Given the description of an element on the screen output the (x, y) to click on. 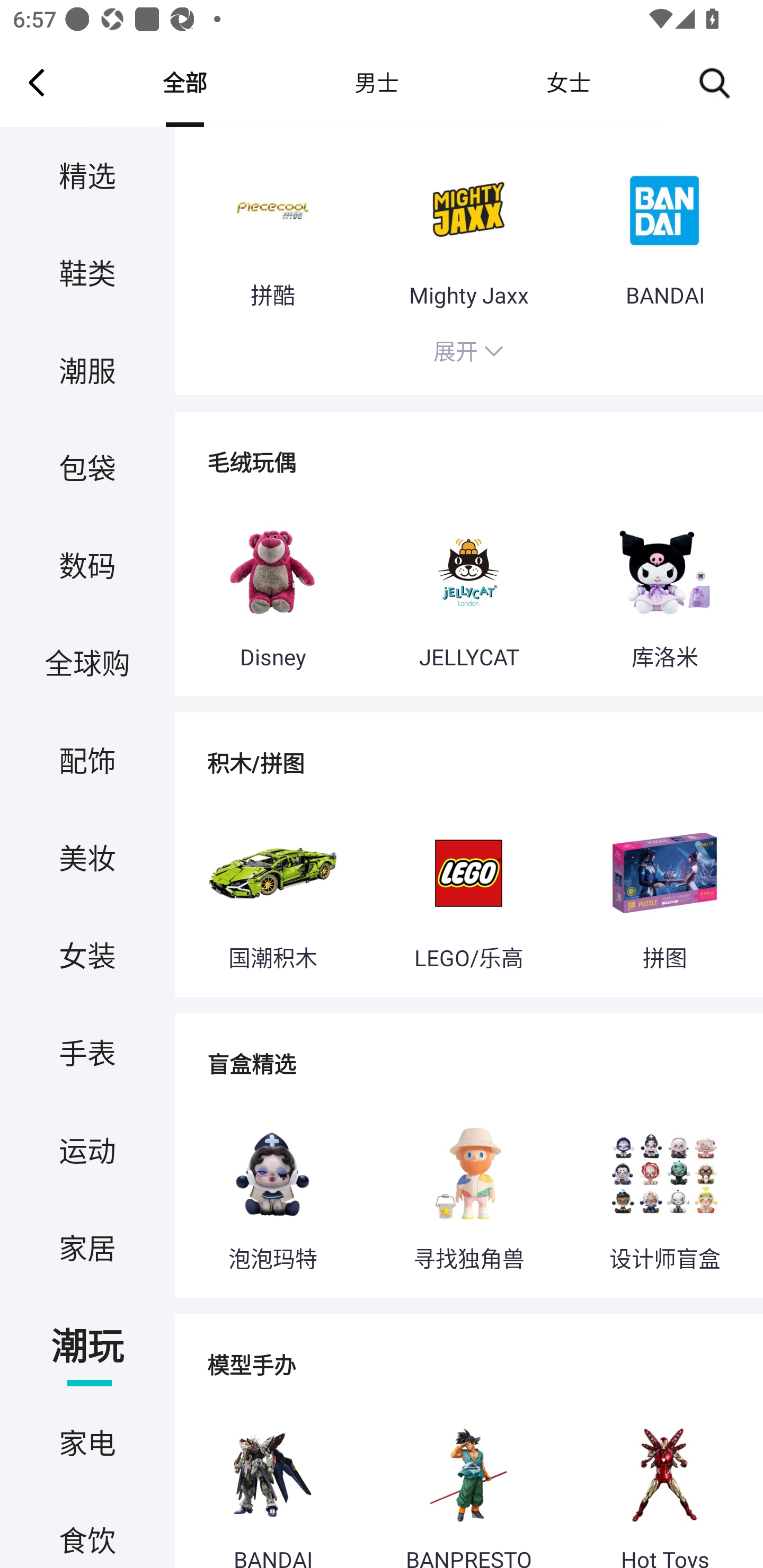
Navigate up (36, 82)
全部 (184, 82)
男士 (376, 82)
女士 (568, 82)
拼酷 (272, 231)
Mighty Jaxx (468, 231)
BANDAI (664, 231)
展开  (468, 354)
Disney (272, 593)
JELLYCAT (468, 593)
库洛米 (664, 593)
国潮积木 (272, 893)
LEGO/乐高 (468, 893)
拼图 (664, 893)
泡泡玛特 (272, 1194)
寻找独角兽 (468, 1194)
设计师盲盒 (664, 1194)
BANDAI (272, 1485)
BANPRESTO (468, 1485)
Hot Toys (664, 1485)
